Given the description of an element on the screen output the (x, y) to click on. 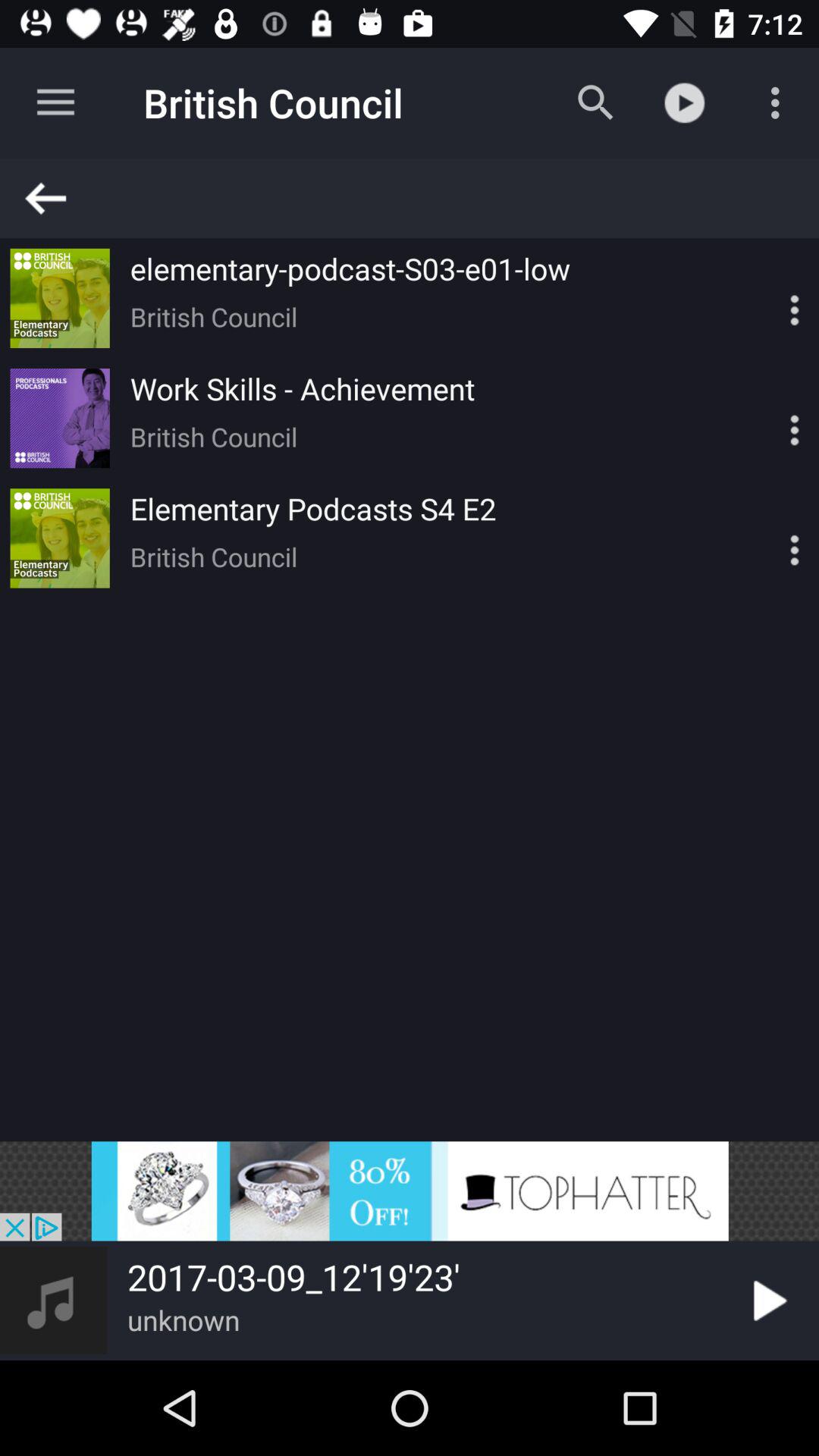
customize chrome button (768, 418)
